Given the description of an element on the screen output the (x, y) to click on. 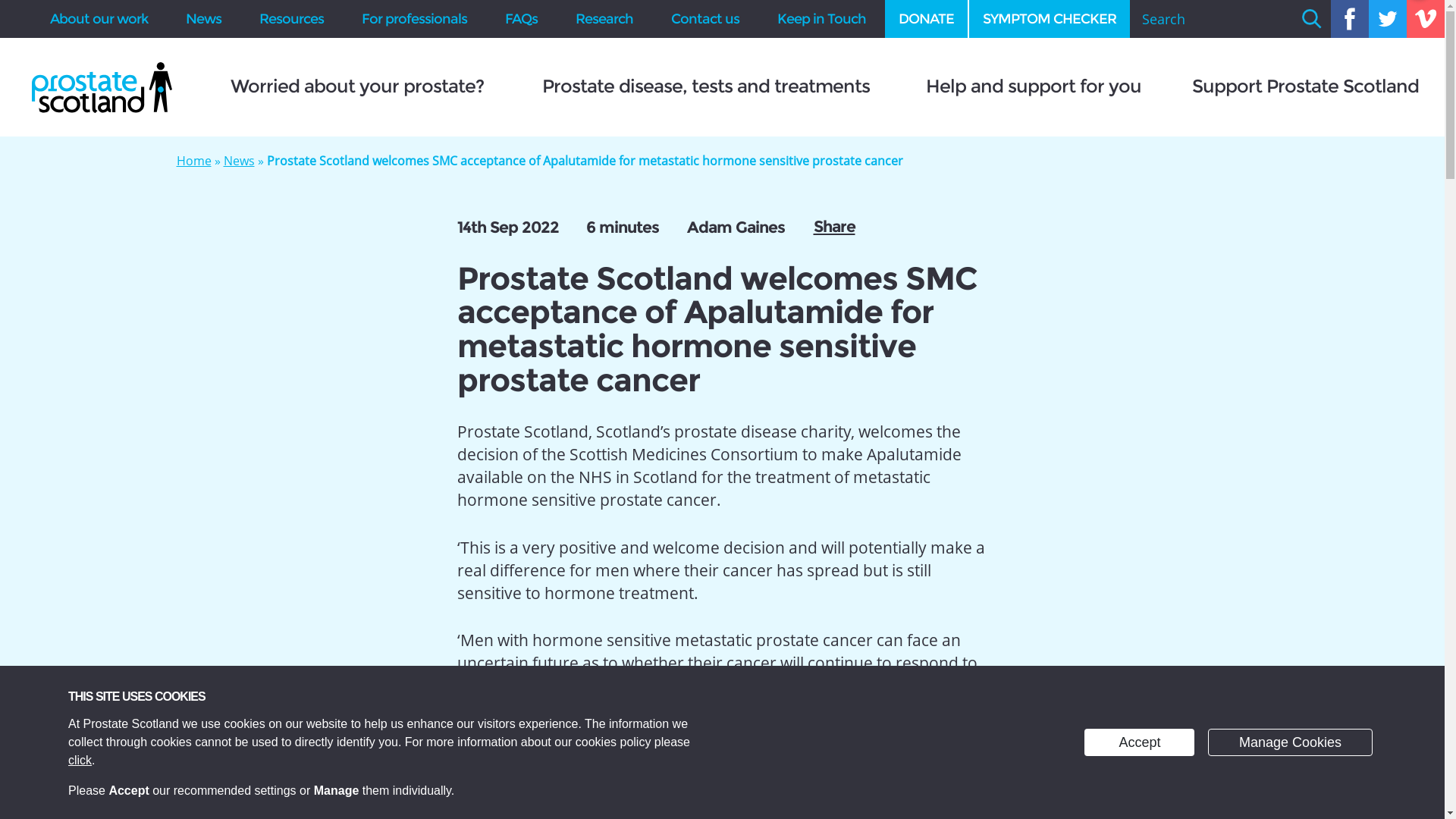
Facebook (1349, 18)
Research (604, 18)
Cookie Control (16, 803)
About our work (98, 18)
For professionals (414, 18)
Keep in Touch (821, 18)
Contact us (705, 18)
News (203, 18)
DONATE (926, 18)
Resources (291, 18)
Prostate disease, tests and treatments (706, 86)
News (237, 160)
Share (833, 226)
Home (193, 160)
Search (1311, 18)
